Given the description of an element on the screen output the (x, y) to click on. 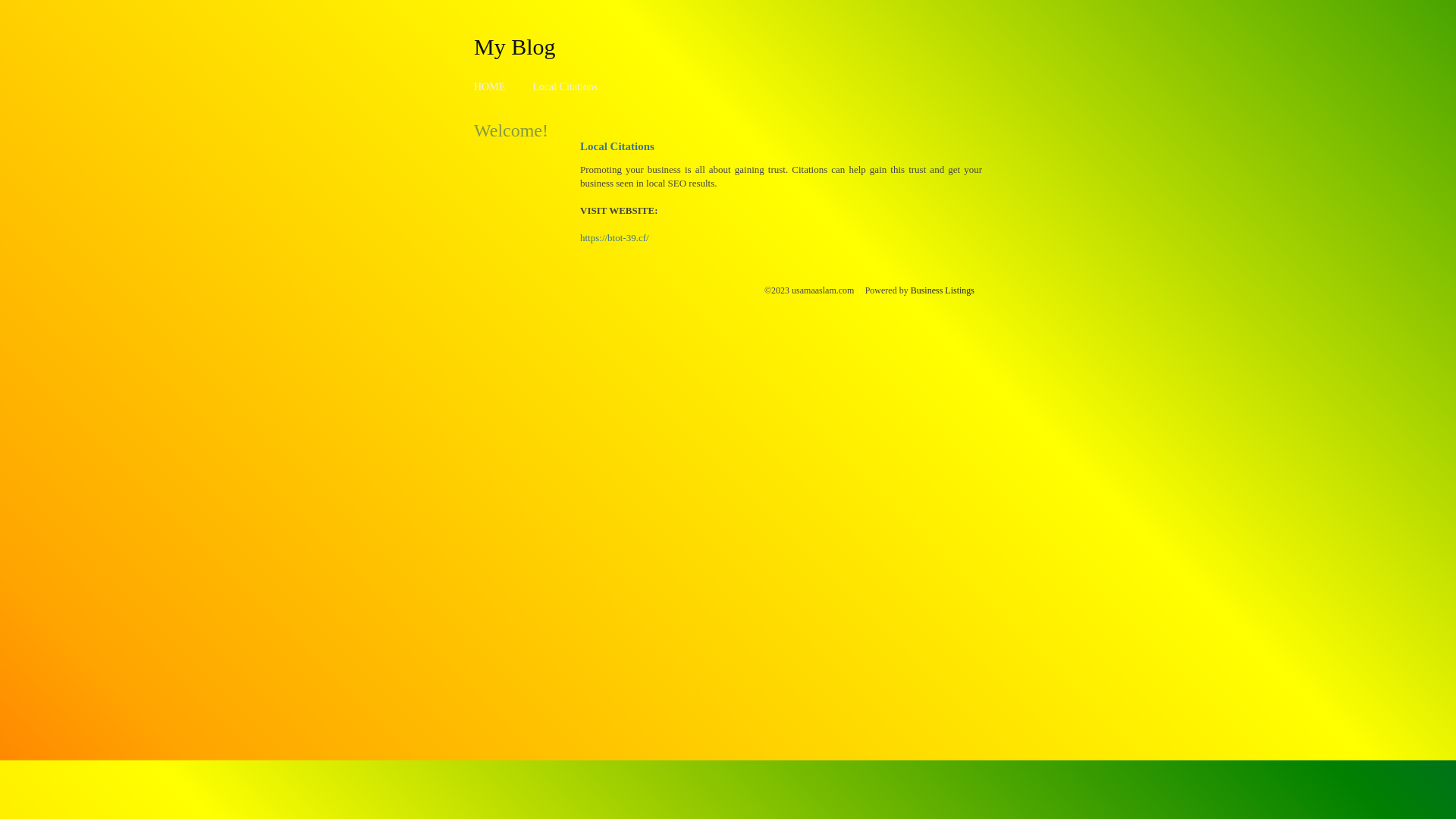
https://btot-39.cf/ Element type: text (614, 237)
My Blog Element type: text (514, 46)
HOME Element type: text (489, 86)
Business Listings Element type: text (942, 290)
Local Citations Element type: text (564, 86)
